Given the description of an element on the screen output the (x, y) to click on. 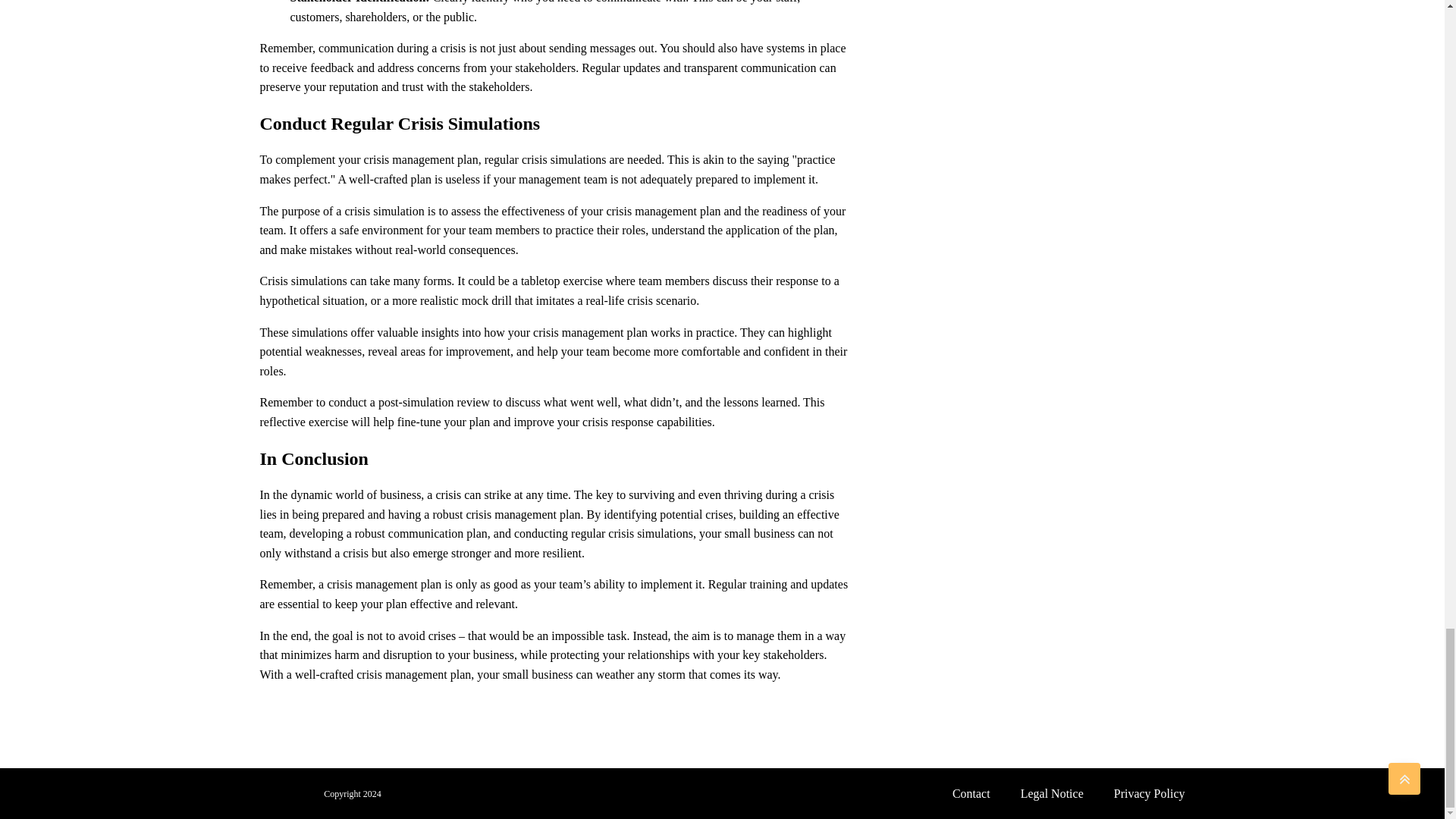
Contact (971, 793)
Privacy Policy (1149, 793)
Legal Notice (1052, 793)
